Given the description of an element on the screen output the (x, y) to click on. 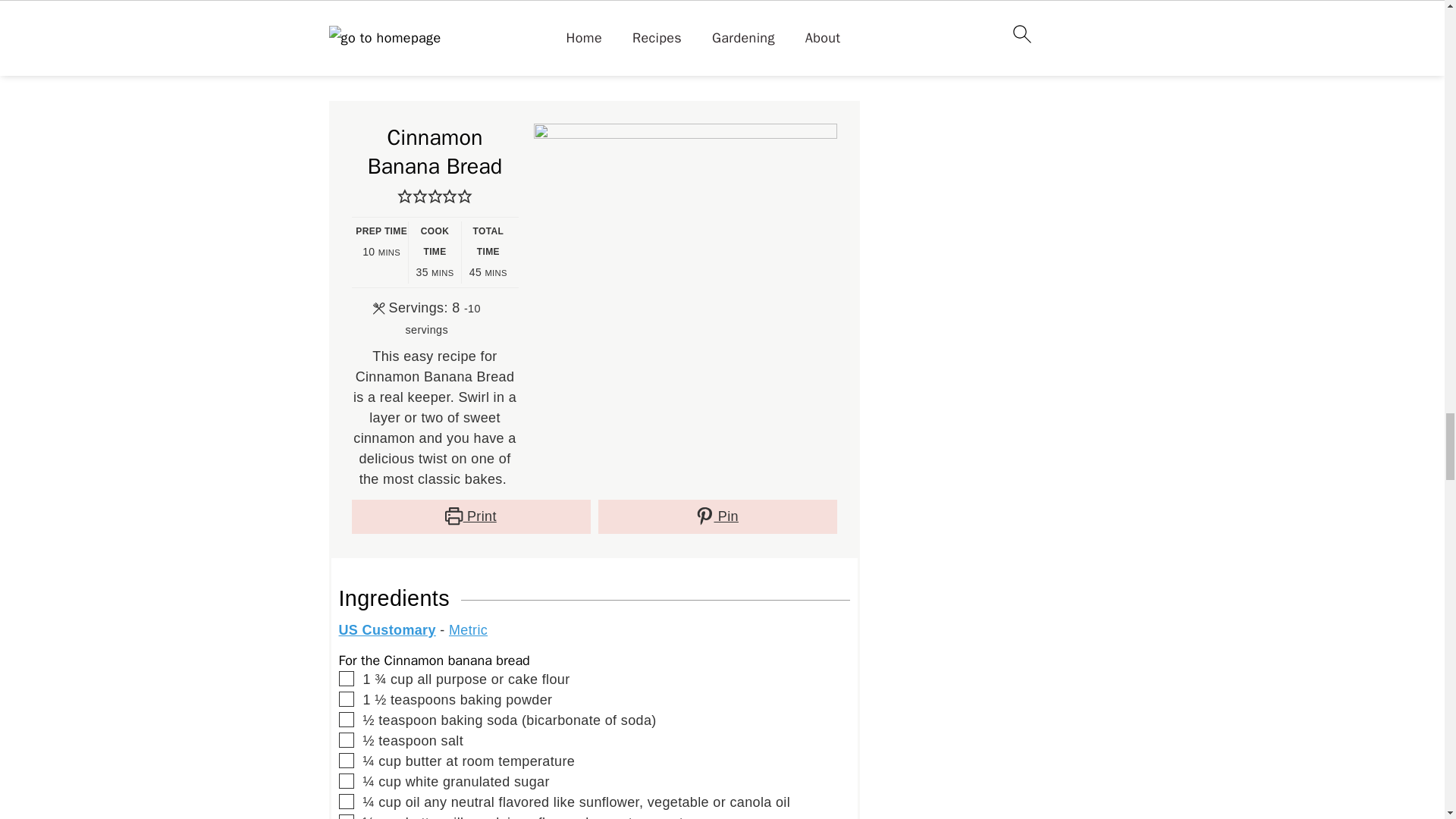
Print (471, 516)
US Customary (386, 630)
Metric (467, 630)
Pin (715, 516)
